Given the description of an element on the screen output the (x, y) to click on. 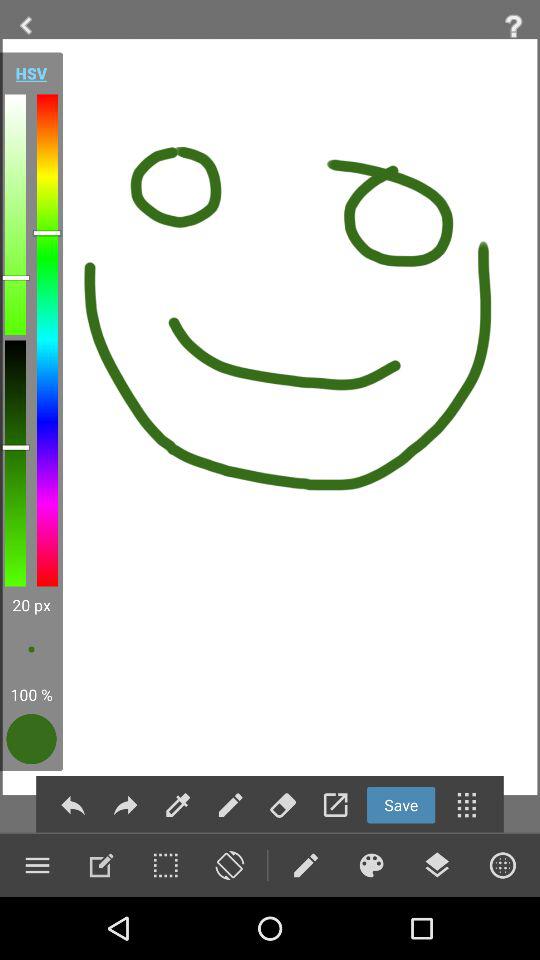
painting (371, 865)
